Given the description of an element on the screen output the (x, y) to click on. 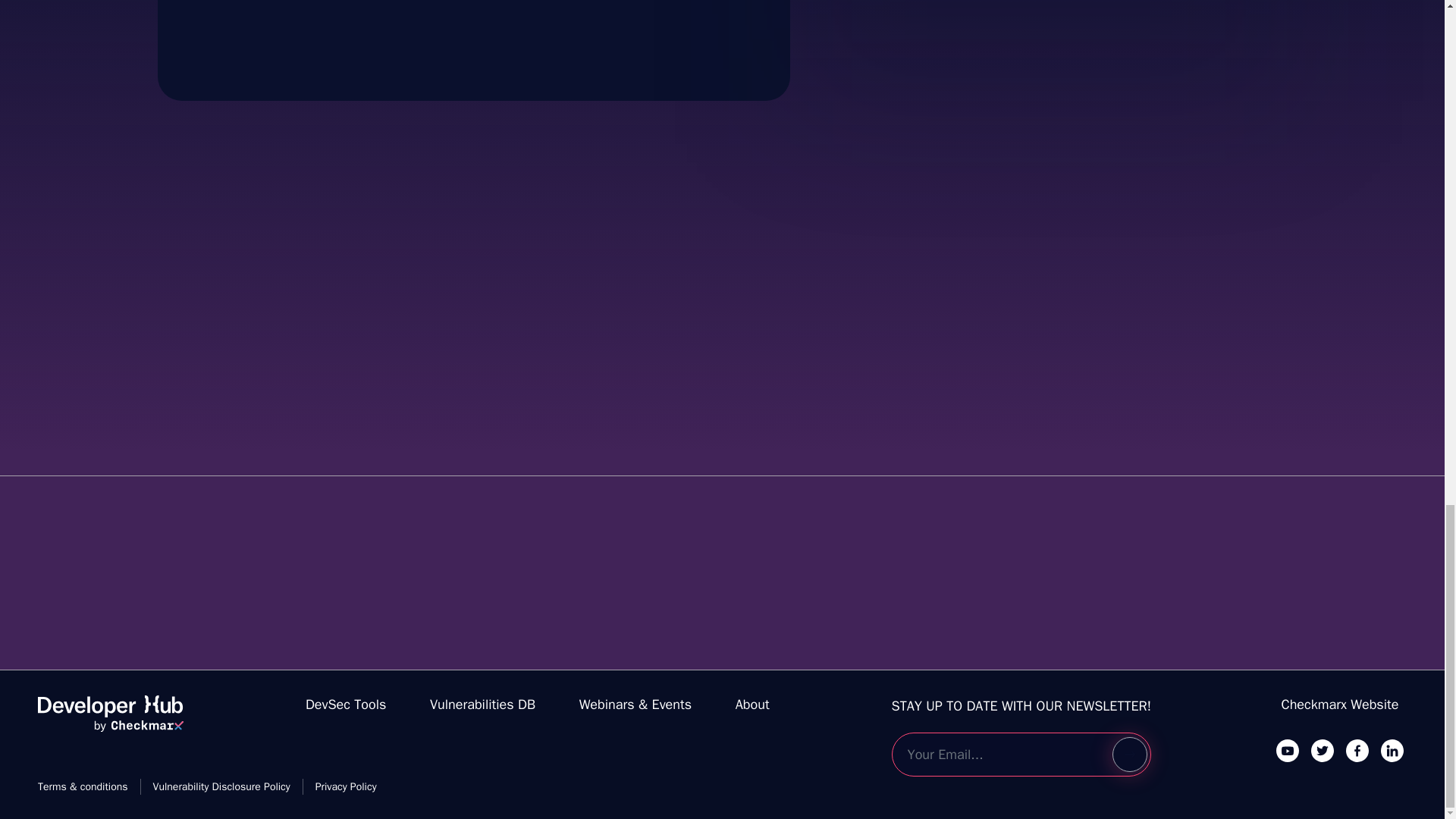
Follow us on Facebook (1356, 750)
Follow us on Linkedin (1391, 750)
DevSec Tools (345, 704)
Checkmarx Website (1340, 704)
Privacy Policy (346, 786)
Follow us on Youtube (1287, 750)
Vulnerabilities DB (482, 704)
About (752, 704)
Submit form (1129, 754)
Vulnerability Disclosure Policy (220, 786)
Goto website home page (110, 720)
Follow us on Twitter (1322, 750)
